Given the description of an element on the screen output the (x, y) to click on. 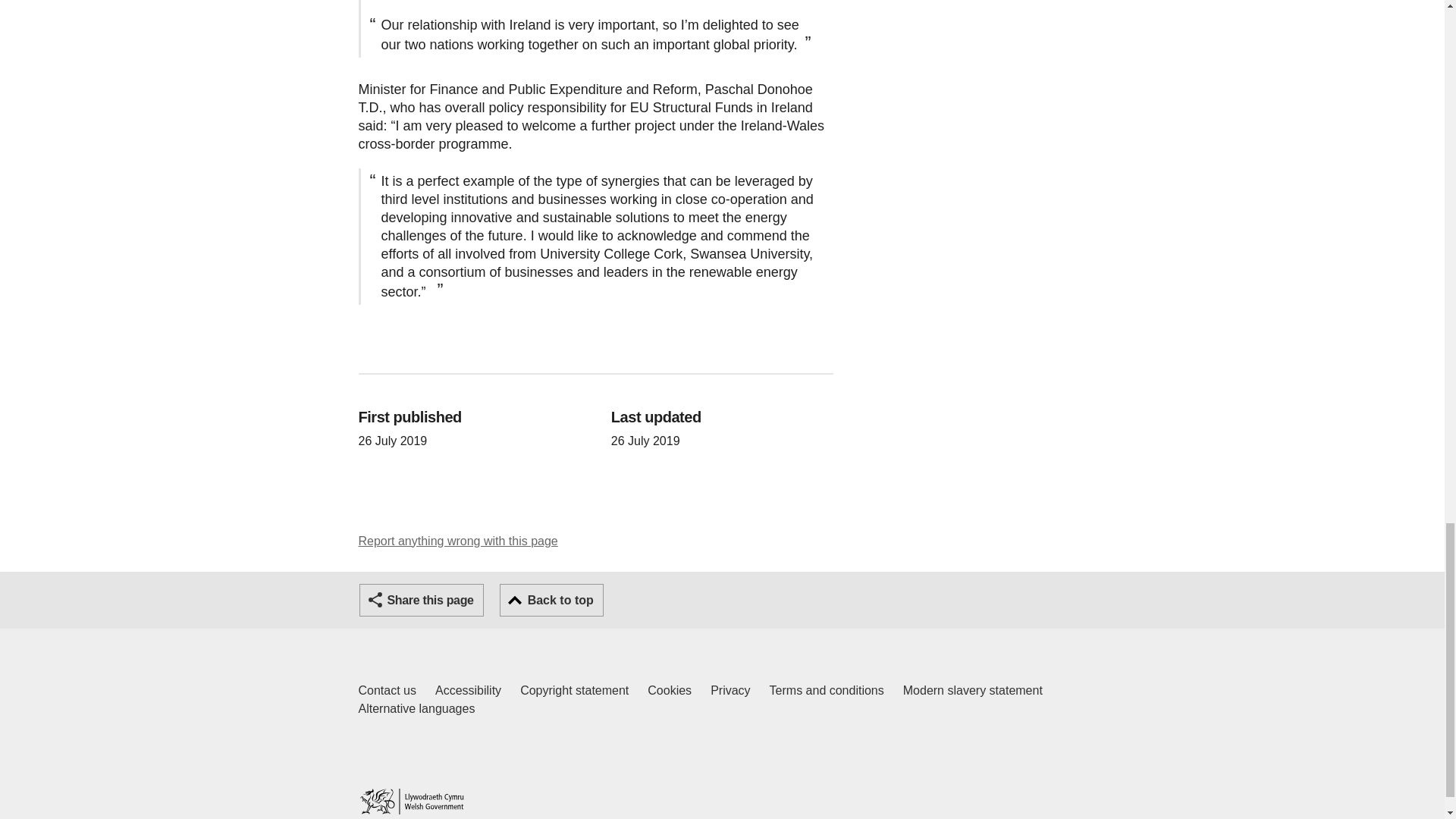
Back to top (551, 599)
Alternative languages (416, 709)
Home (411, 801)
Report anything wrong with this page (457, 540)
Privacy (729, 690)
Copyright statement (573, 690)
Cookies (669, 690)
Terms and conditions (826, 690)
Share this page (421, 599)
